Given the description of an element on the screen output the (x, y) to click on. 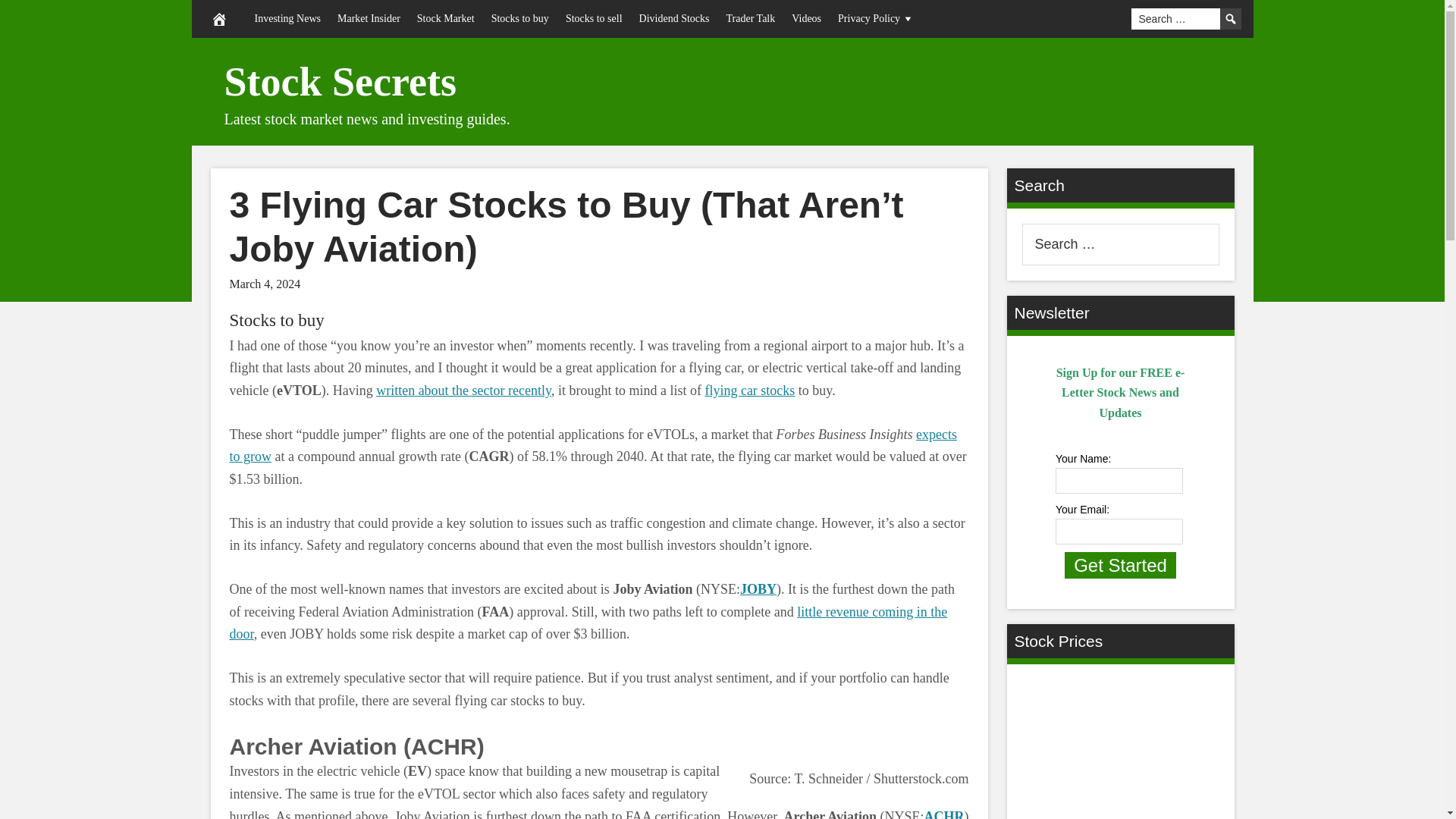
Market Insider (369, 18)
Get Started (1120, 565)
Stock Secrets (340, 81)
Stocks to buy (520, 18)
Trader Talk (750, 18)
expects to grow (592, 445)
Videos (806, 18)
Stocks to buy (275, 320)
Stock Market (446, 18)
Privacy Policy (876, 18)
written about the sector recently (463, 390)
Stocks to buy (275, 320)
flying car stocks (749, 390)
Investing News (287, 18)
